Given the description of an element on the screen output the (x, y) to click on. 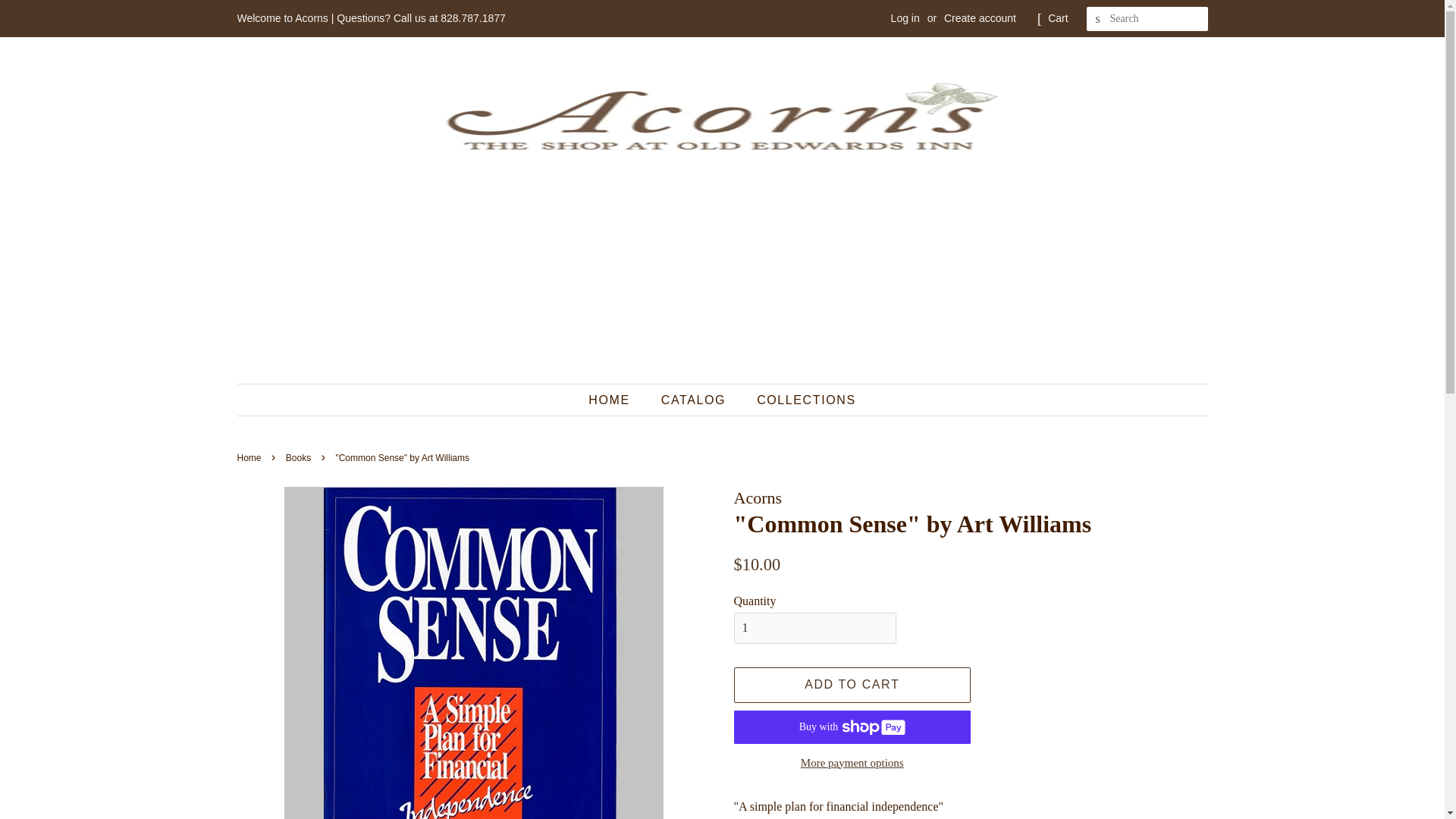
1 (814, 627)
Home (249, 457)
CATALOG (695, 399)
Cart (1057, 18)
HOME (616, 399)
More payment options (852, 762)
SEARCH (1097, 18)
Log in (905, 18)
Back to the frontpage (249, 457)
Create account (979, 18)
